Given the description of an element on the screen output the (x, y) to click on. 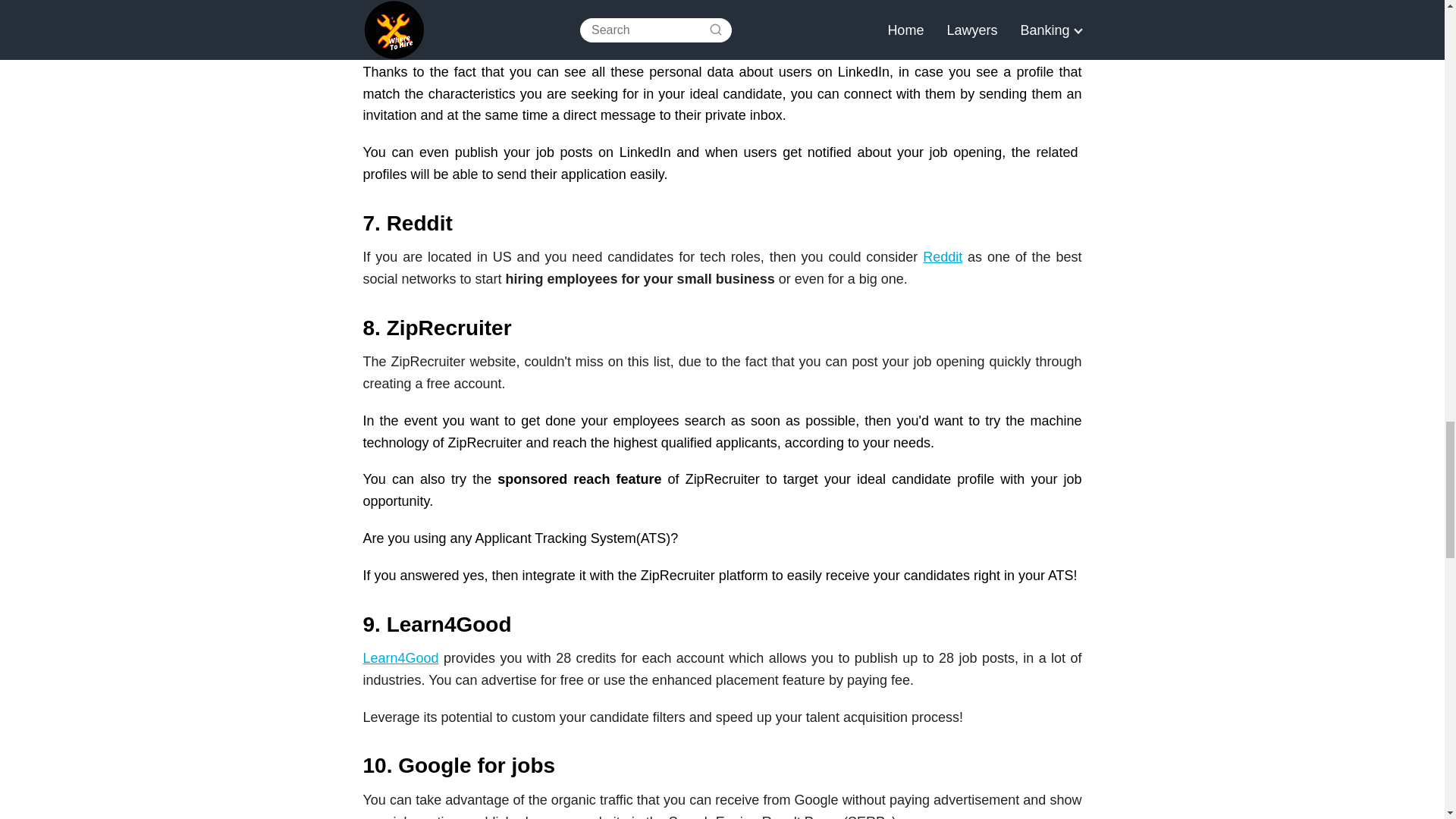
Learn4Good (400, 657)
Reddit (942, 256)
